Given the description of an element on the screen output the (x, y) to click on. 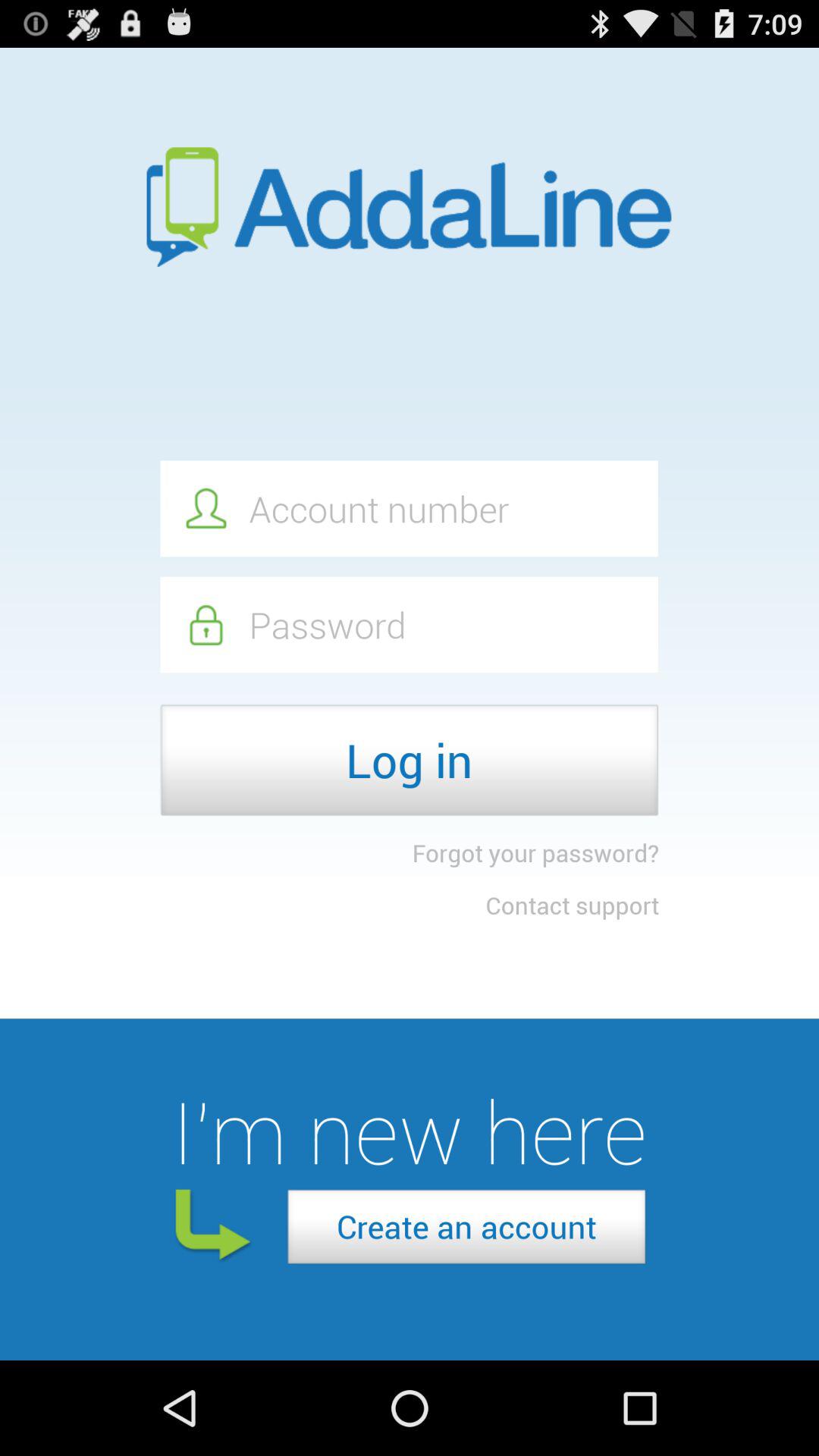
tap item below the forgot your password? icon (572, 904)
